Given the description of an element on the screen output the (x, y) to click on. 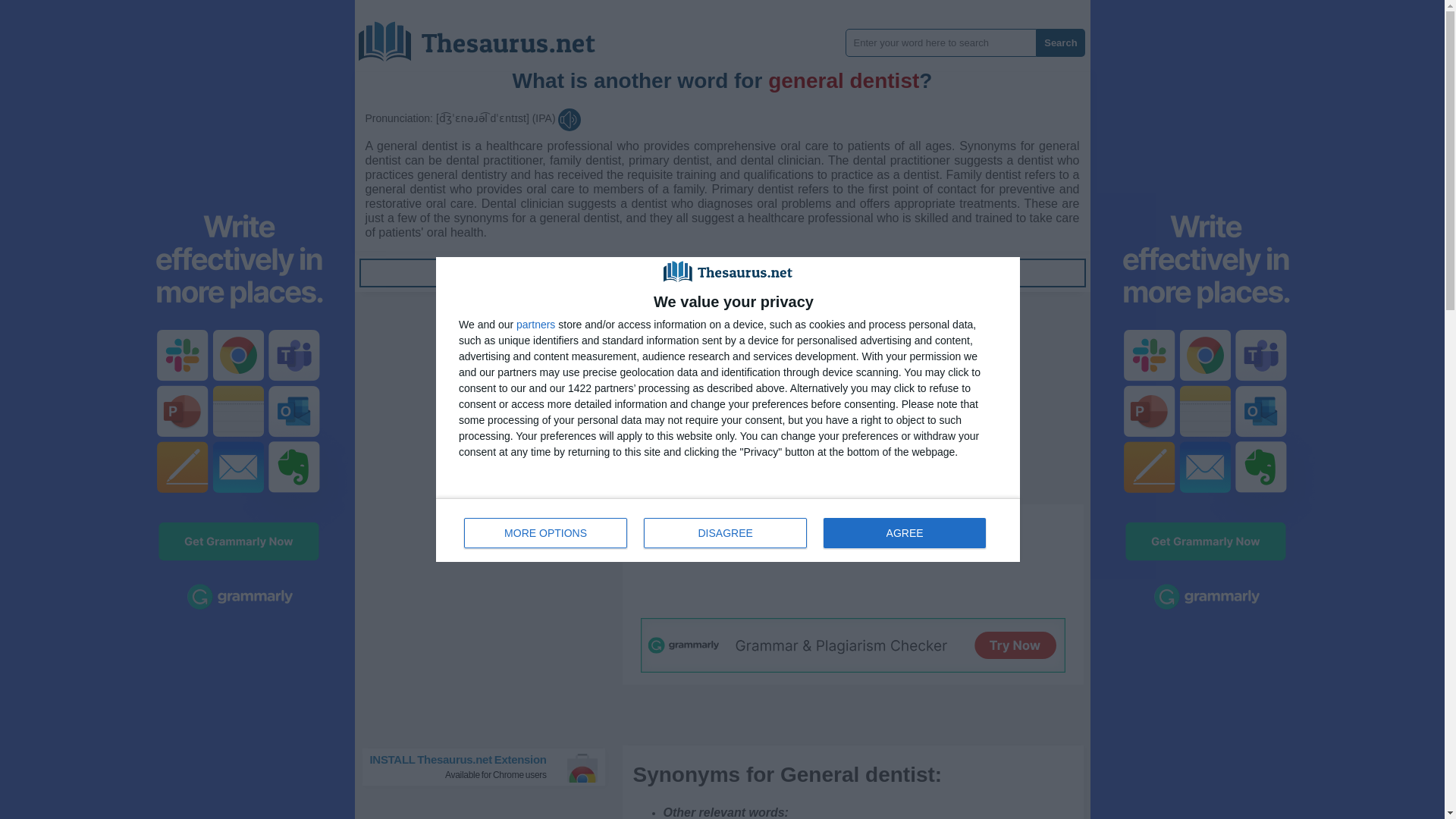
AGREE (904, 532)
Infographic (962, 272)
partners (727, 529)
Search (535, 324)
Infographic (1060, 42)
Hypernyms (962, 272)
Synonyms (722, 272)
MORE OPTIONS (479, 272)
Thesaurus.net (489, 766)
Synonyms (545, 532)
DISAGREE (487, 35)
Hypernyms (479, 272)
